Given the description of an element on the screen output the (x, y) to click on. 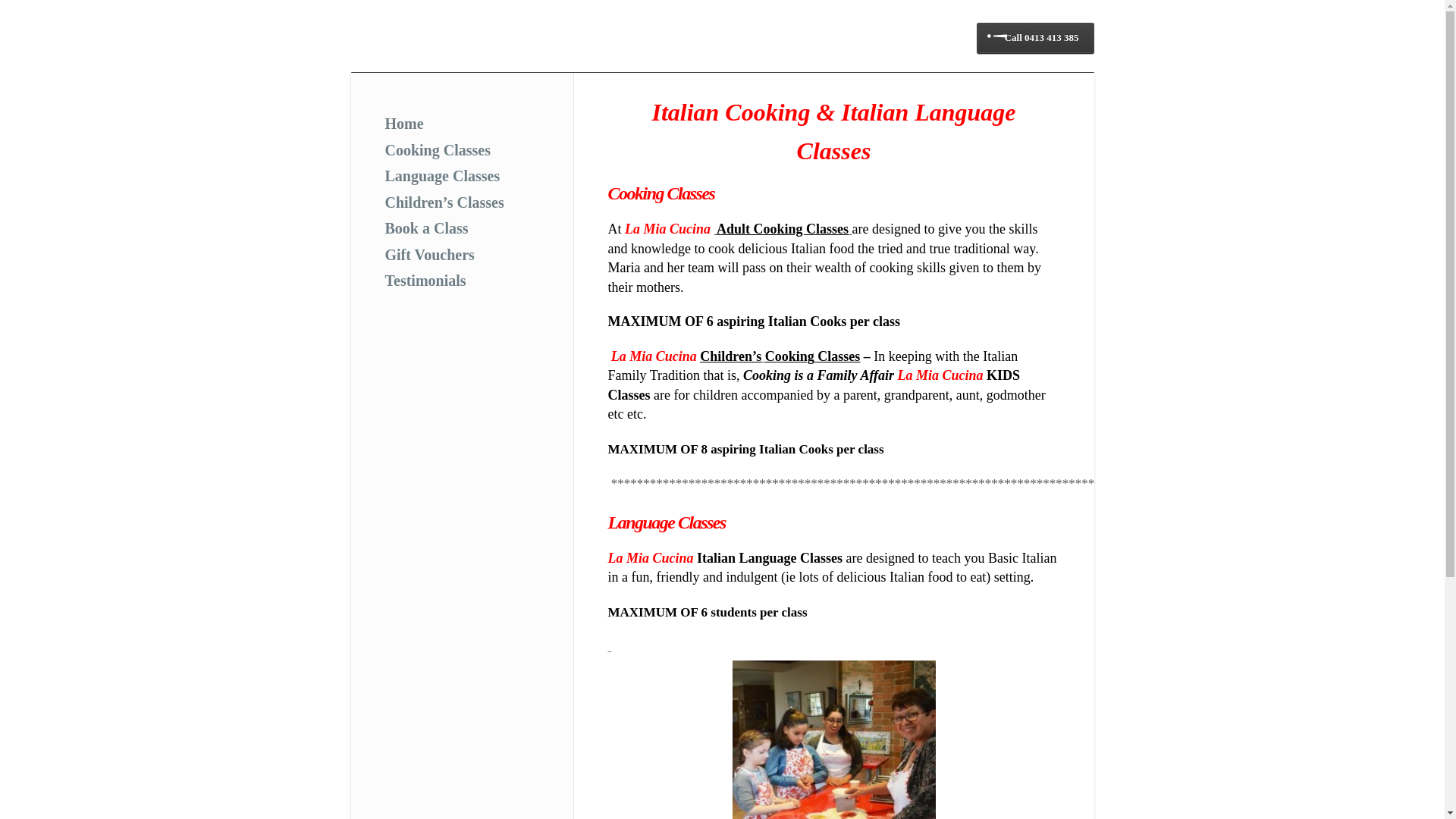
Book a Class Element type: text (426, 227)
  Element type: text (609, 645)
Home Element type: text (404, 123)
Cooking Classes Element type: text (437, 149)
Language Classes Element type: text (442, 175)
Testimonials Element type: text (425, 280)
Call 0413 413 385 Element type: text (1035, 37)
Gift Vouchers Element type: text (429, 253)
